Given the description of an element on the screen output the (x, y) to click on. 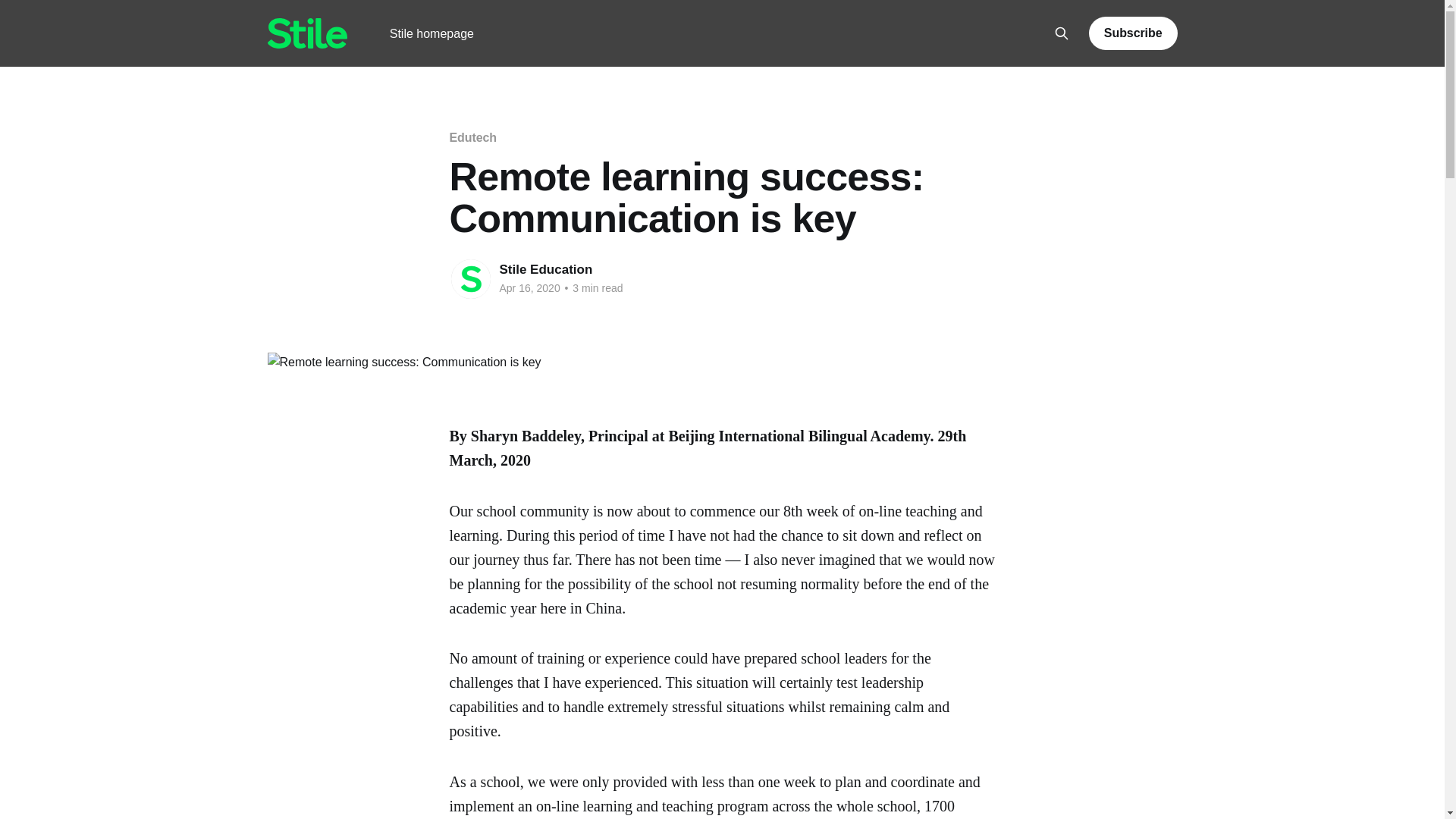
Stile homepage (432, 33)
Edutech (472, 137)
Subscribe (1133, 32)
Stile Education (545, 269)
